Given the description of an element on the screen output the (x, y) to click on. 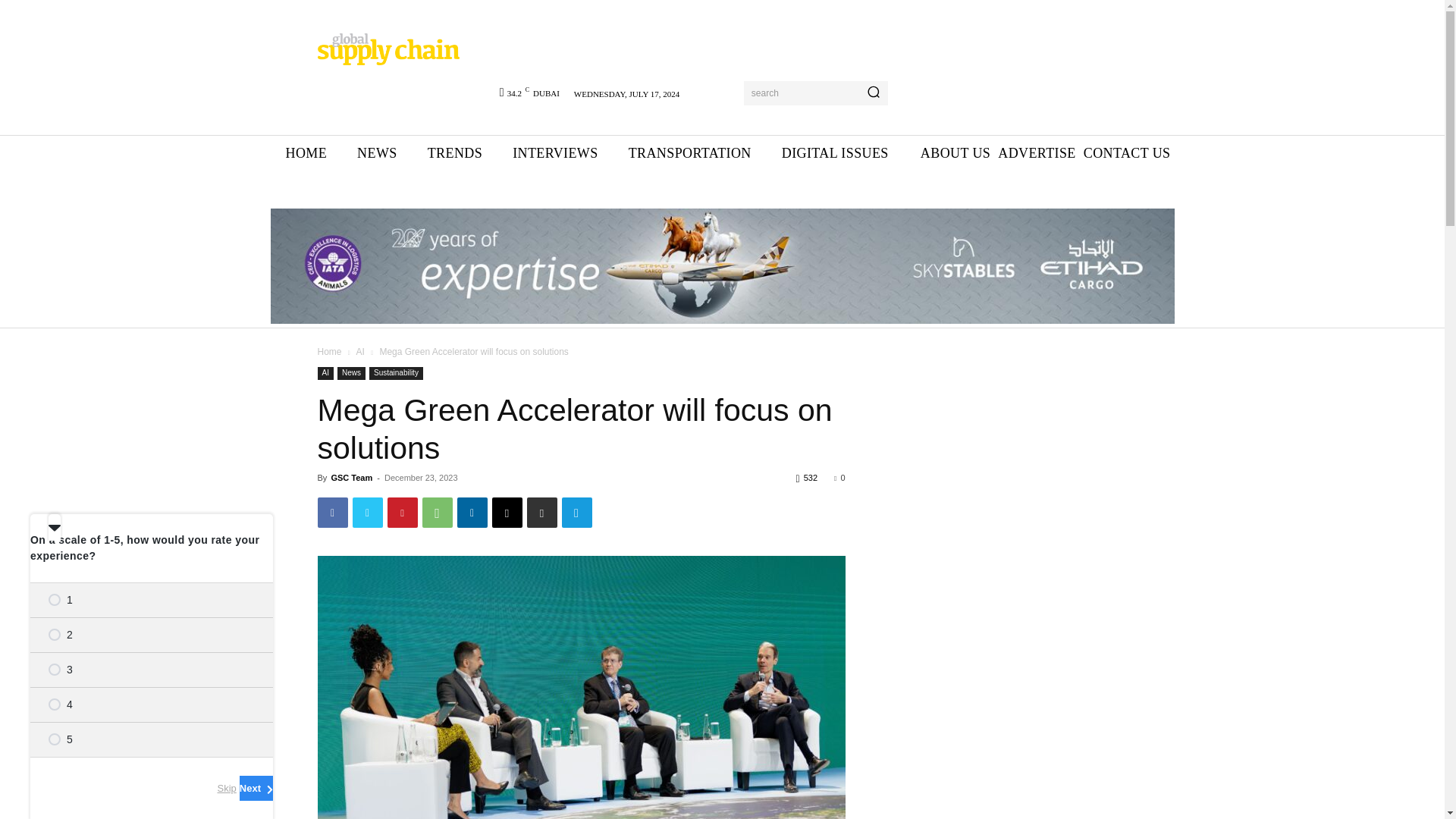
Pinterest (401, 512)
Twitter (366, 512)
Facebook (332, 512)
Email (506, 512)
Telegram (575, 512)
Print (540, 512)
WhatsApp (436, 512)
Linkedin (471, 512)
